Given the description of an element on the screen output the (x, y) to click on. 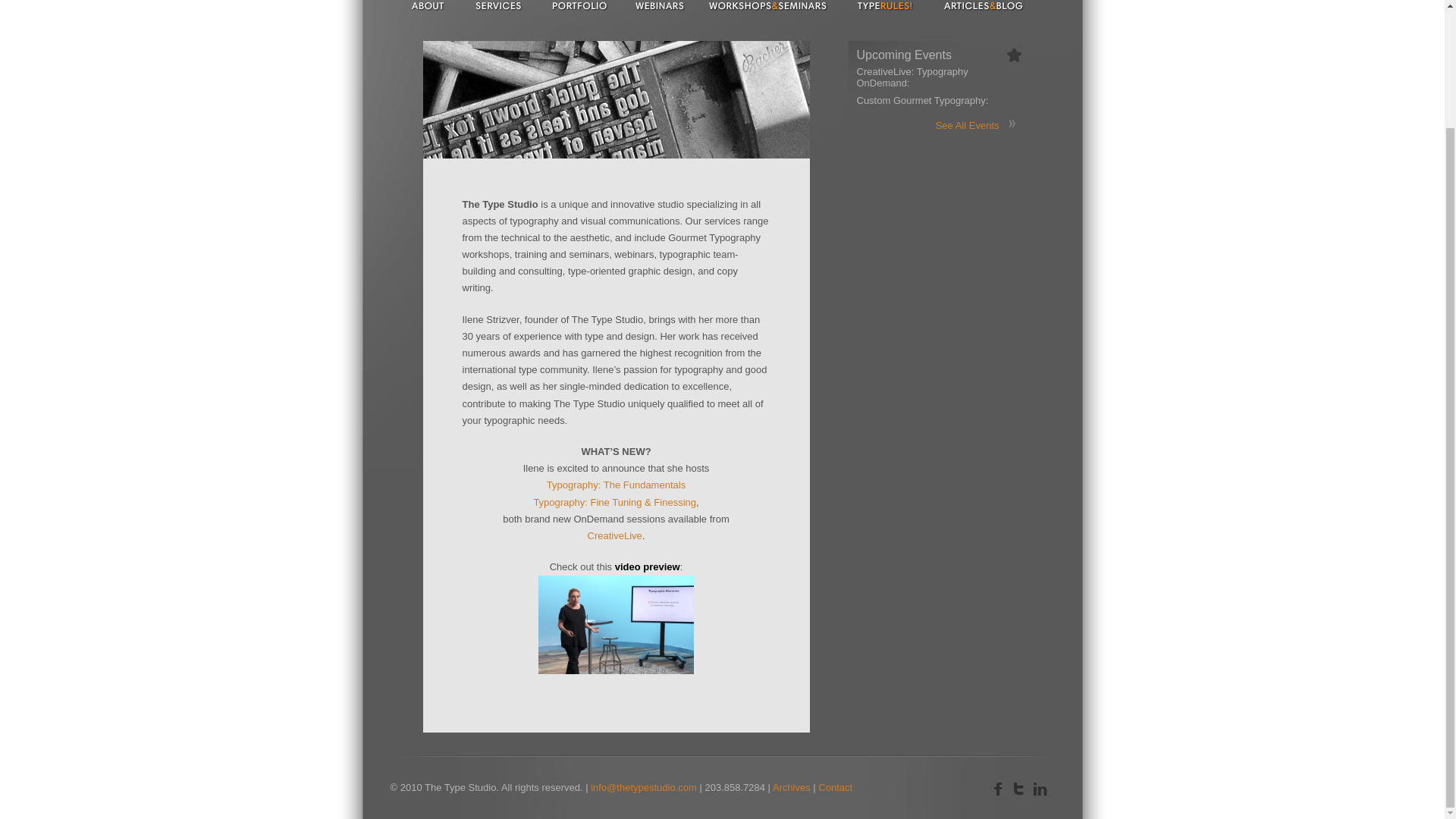
See All Events (967, 125)
Type Rules! (884, 8)
Archives (791, 787)
CreativeLive (615, 535)
Typography: The Fundamentals (616, 484)
About (428, 8)
Services (497, 8)
Portfolio (580, 8)
Contact (834, 787)
Webinars (658, 8)
